Given the description of an element on the screen output the (x, y) to click on. 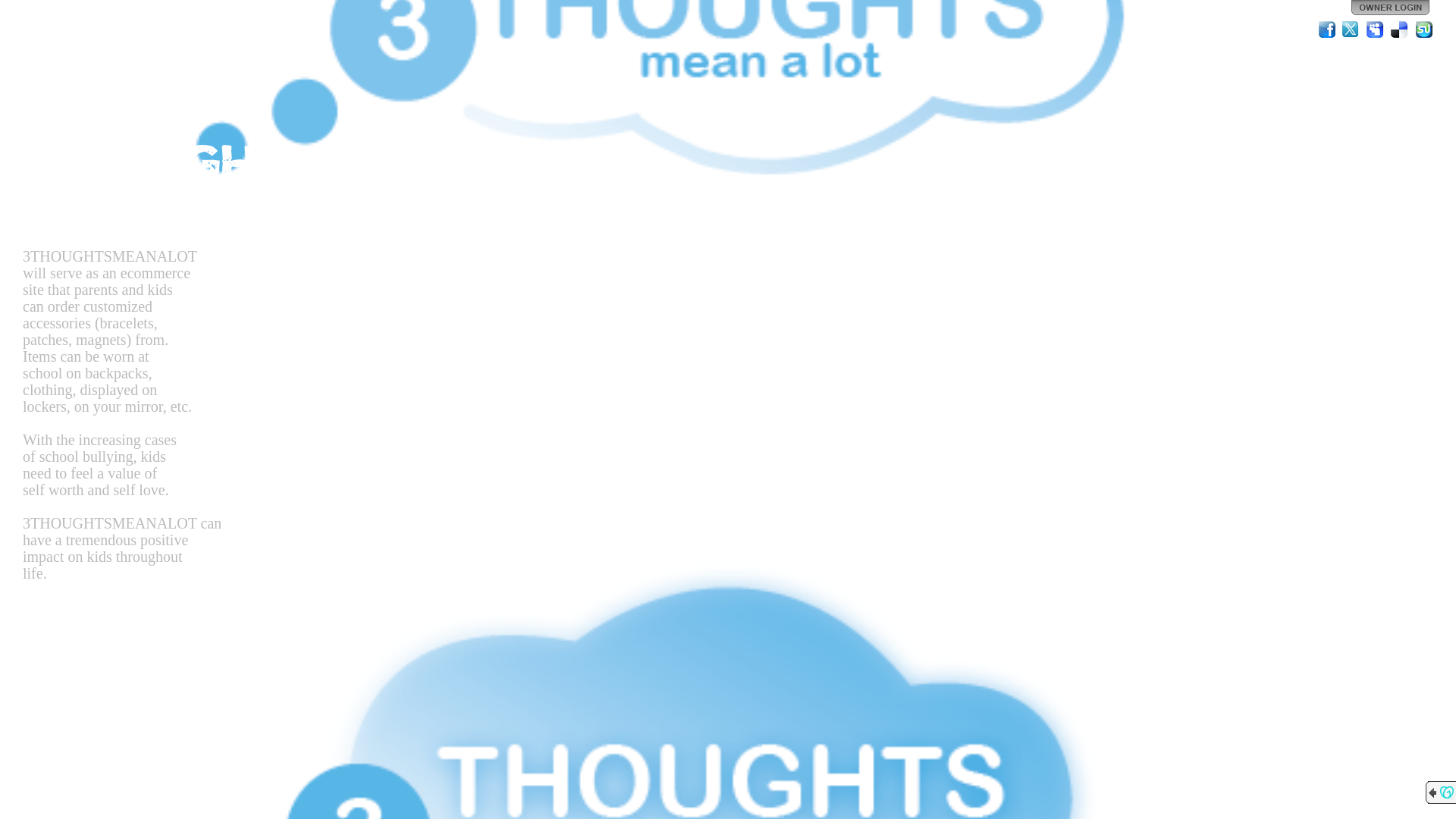
StumbleUpon Element type: text (1423, 29)
Twitter Element type: text (1350, 29)
Facebook Element type: text (1326, 29)
Del.icio.us Element type: text (1399, 29)
MySpace Element type: text (1375, 29)
